Given the description of an element on the screen output the (x, y) to click on. 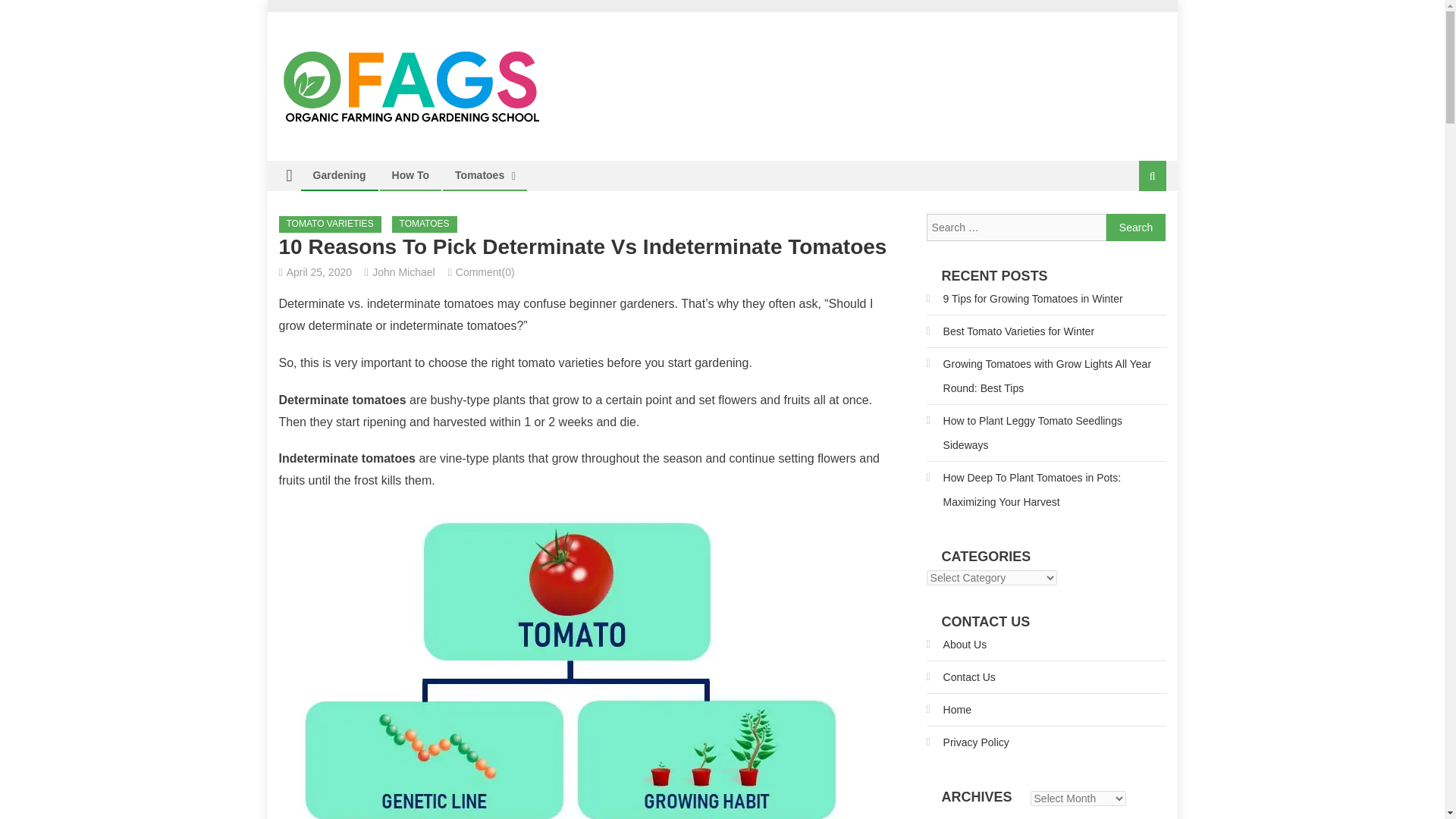
How To (410, 174)
Search (1133, 226)
TOMATO VARIETIES (330, 224)
TOMATOES (424, 224)
Search (1136, 226)
John Michael (403, 272)
Gardening (339, 174)
Tomatoes (479, 174)
Search (1136, 226)
April 25, 2020 (319, 272)
